Given the description of an element on the screen output the (x, y) to click on. 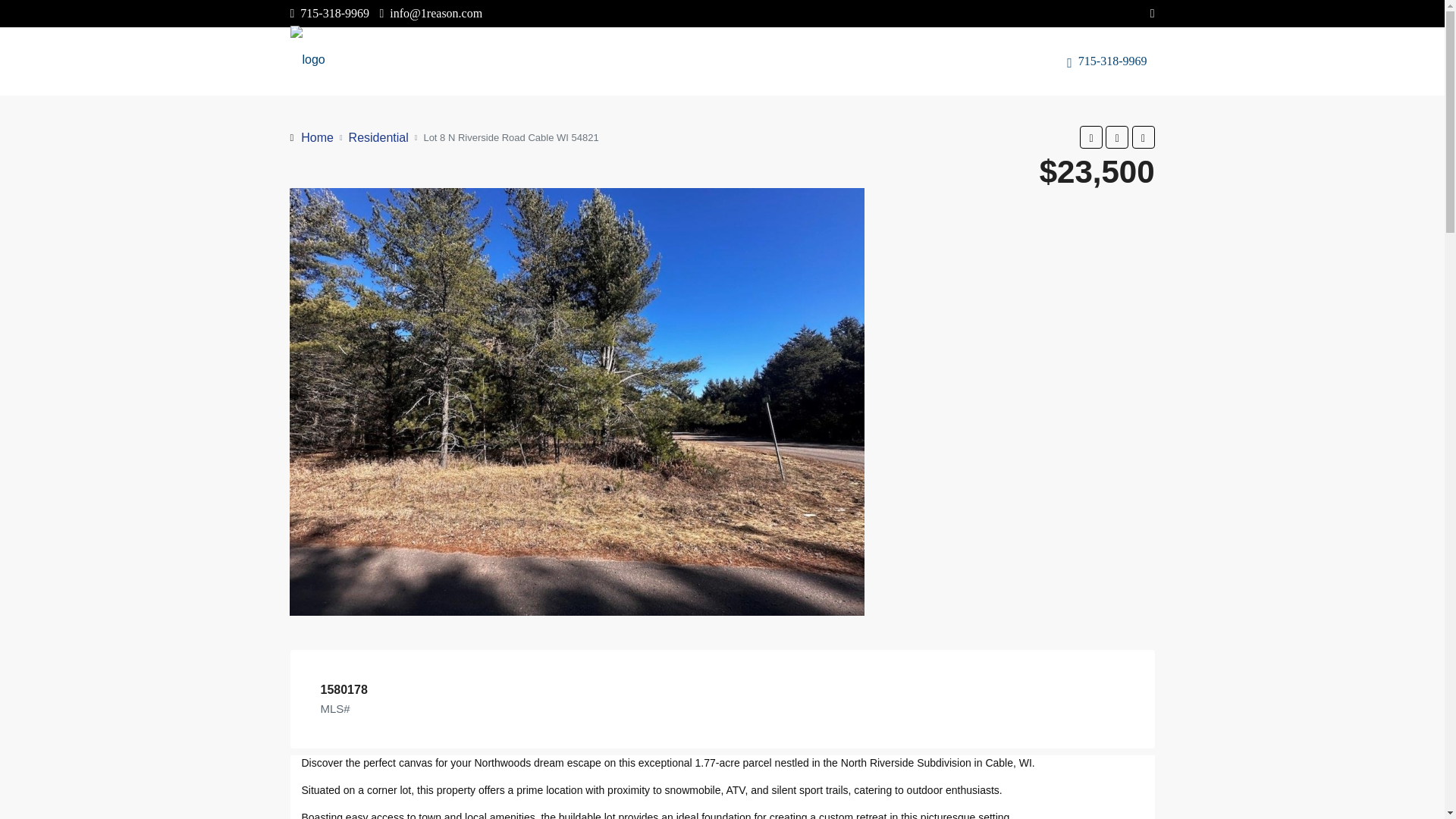
715-318-9969 (329, 12)
Residential (379, 136)
Home (317, 136)
715-318-9969 (1110, 60)
